Given the description of an element on the screen output the (x, y) to click on. 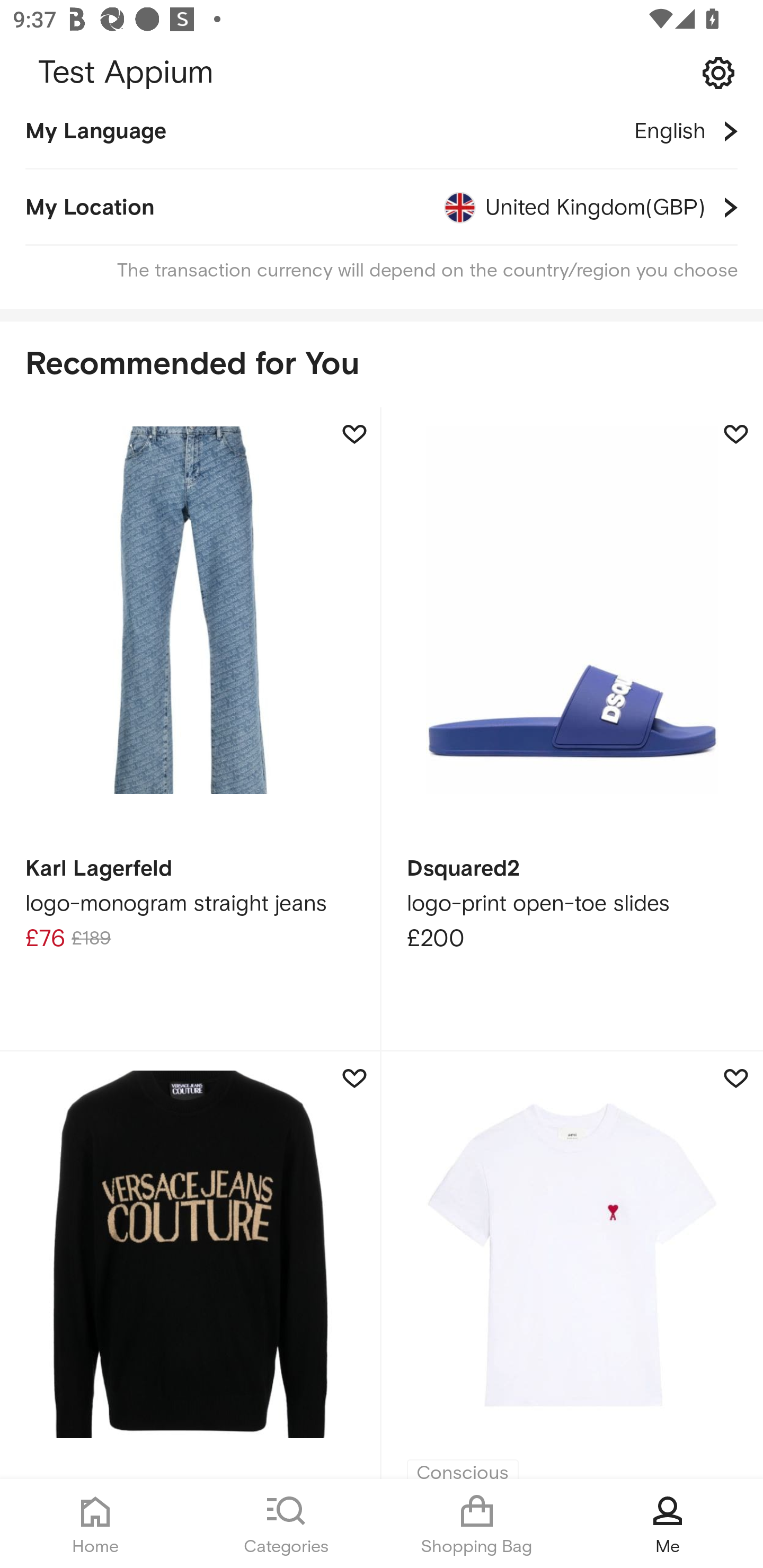
Test Appium (381, 72)
My Language English (381, 140)
My Location United Kingdom(GBP) (381, 207)
Dsquared2 logo-print open-toe slides £200 (572, 729)
Conscious (572, 1265)
Home (95, 1523)
Categories (285, 1523)
Shopping Bag (476, 1523)
